Given the description of an element on the screen output the (x, y) to click on. 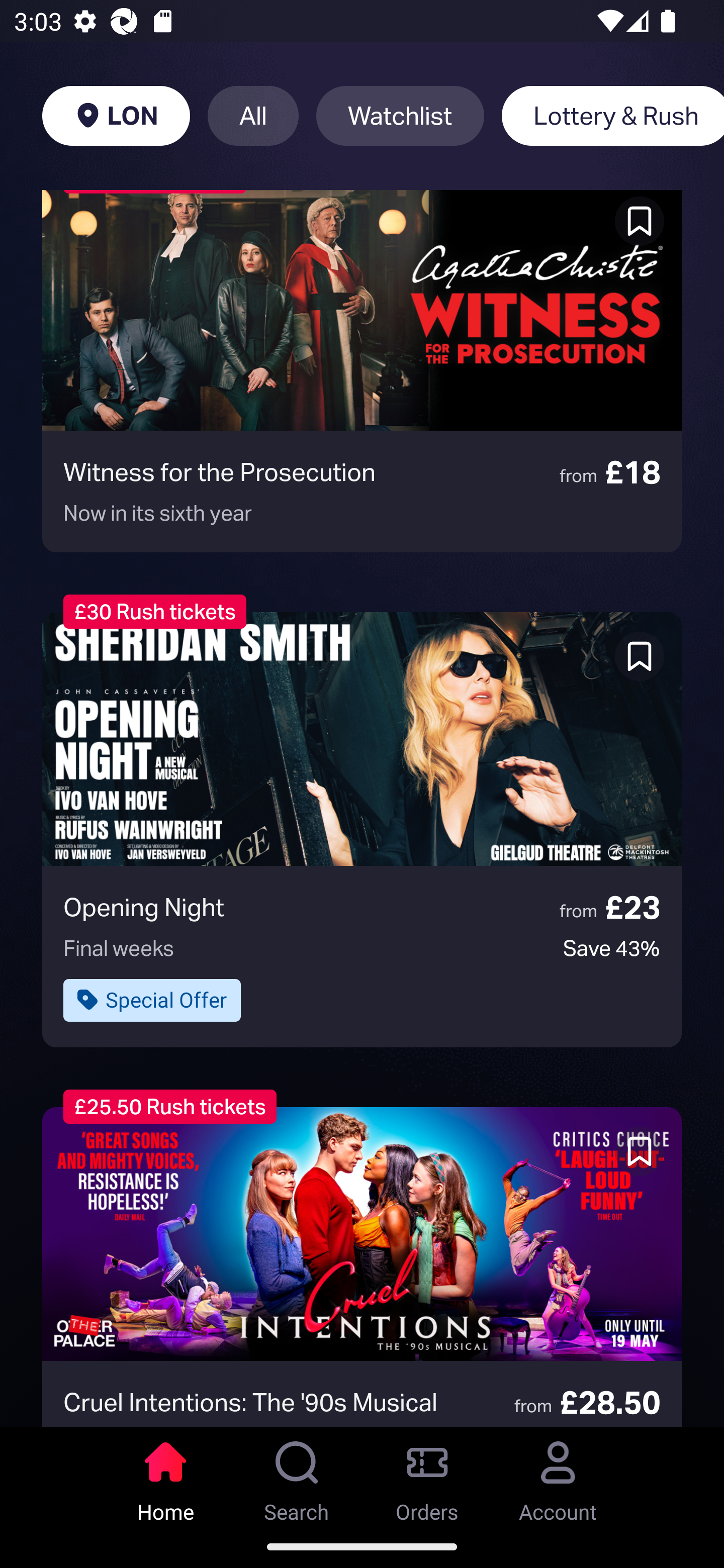
LON (115, 115)
All (252, 115)
Watchlist (400, 115)
Lottery & Rush (612, 115)
Cruel Intentions: The '90s Musical from £28.50 (361, 1266)
Search (296, 1475)
Orders (427, 1475)
Account (558, 1475)
